Given the description of an element on the screen output the (x, y) to click on. 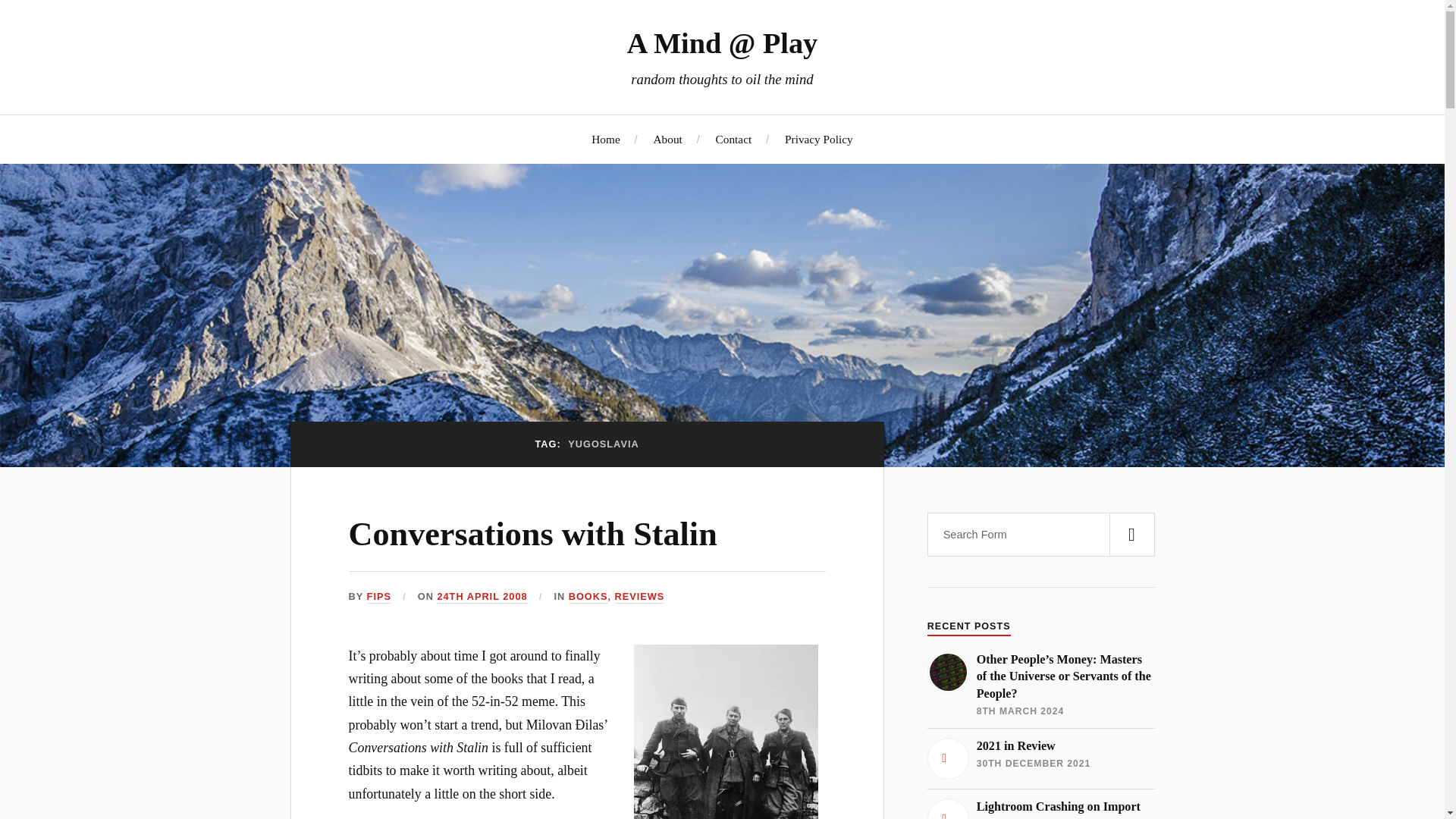
Privacy Policy (818, 138)
FIPS (378, 596)
Conversations with Stalin (533, 533)
Posts by Fips (1040, 808)
24TH APRIL 2008 (378, 596)
REVIEWS (481, 596)
BOOKS (1040, 758)
Home (639, 596)
About (588, 596)
Contact (605, 138)
